Given the description of an element on the screen output the (x, y) to click on. 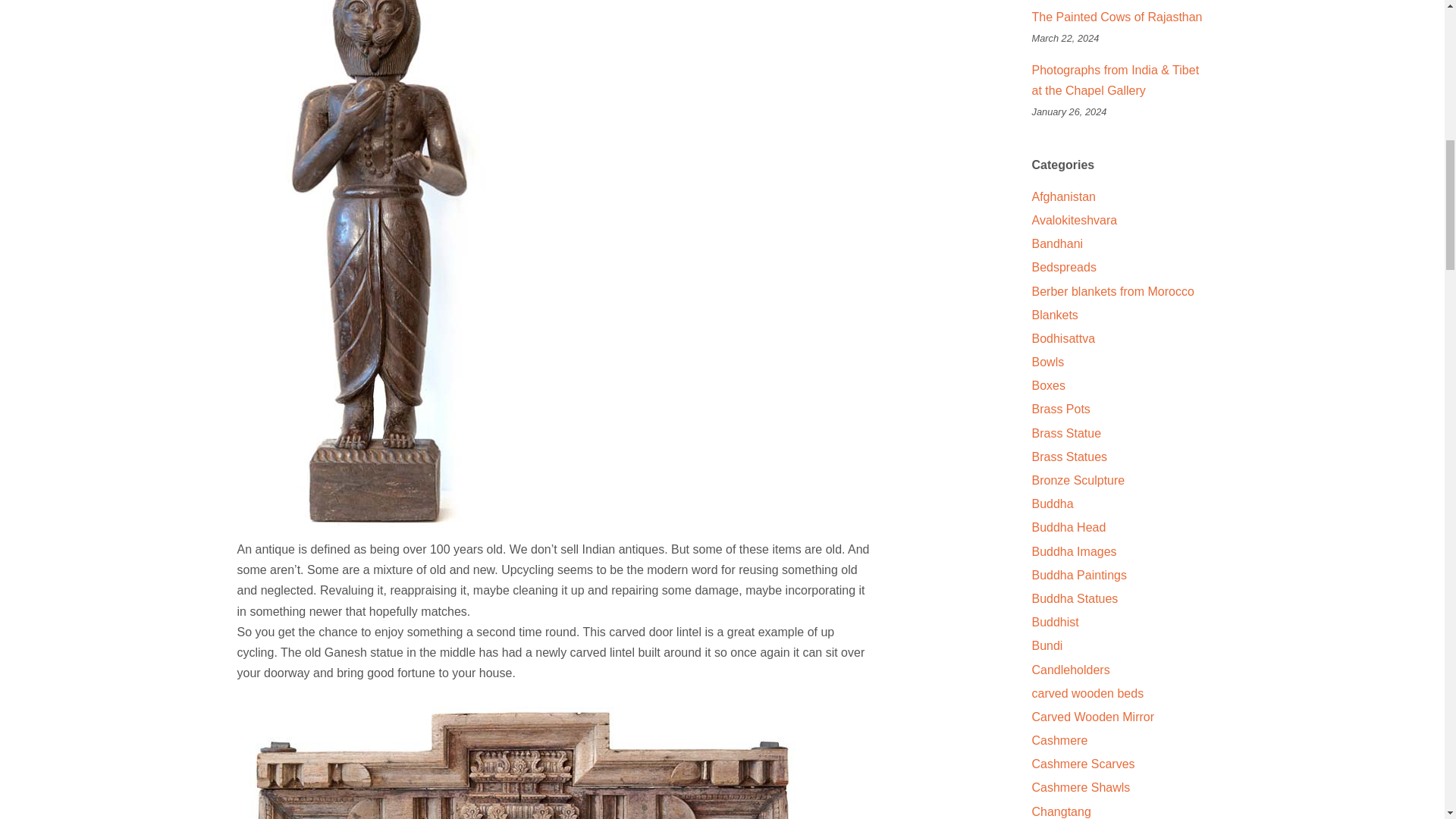
Show articles tagged Brass Statue (1065, 432)
Show articles tagged Afghanistan (1063, 196)
Show articles tagged Bandhani (1056, 243)
Show articles tagged Boxes (1047, 385)
Show articles tagged Bodhisattva (1062, 338)
Show articles tagged Blankets (1053, 314)
Show articles tagged Avalokiteshvara (1073, 219)
Show articles tagged Bowls (1047, 361)
Show articles tagged Bedspreads (1063, 267)
Show articles tagged Brass Pots (1059, 408)
